Given the description of an element on the screen output the (x, y) to click on. 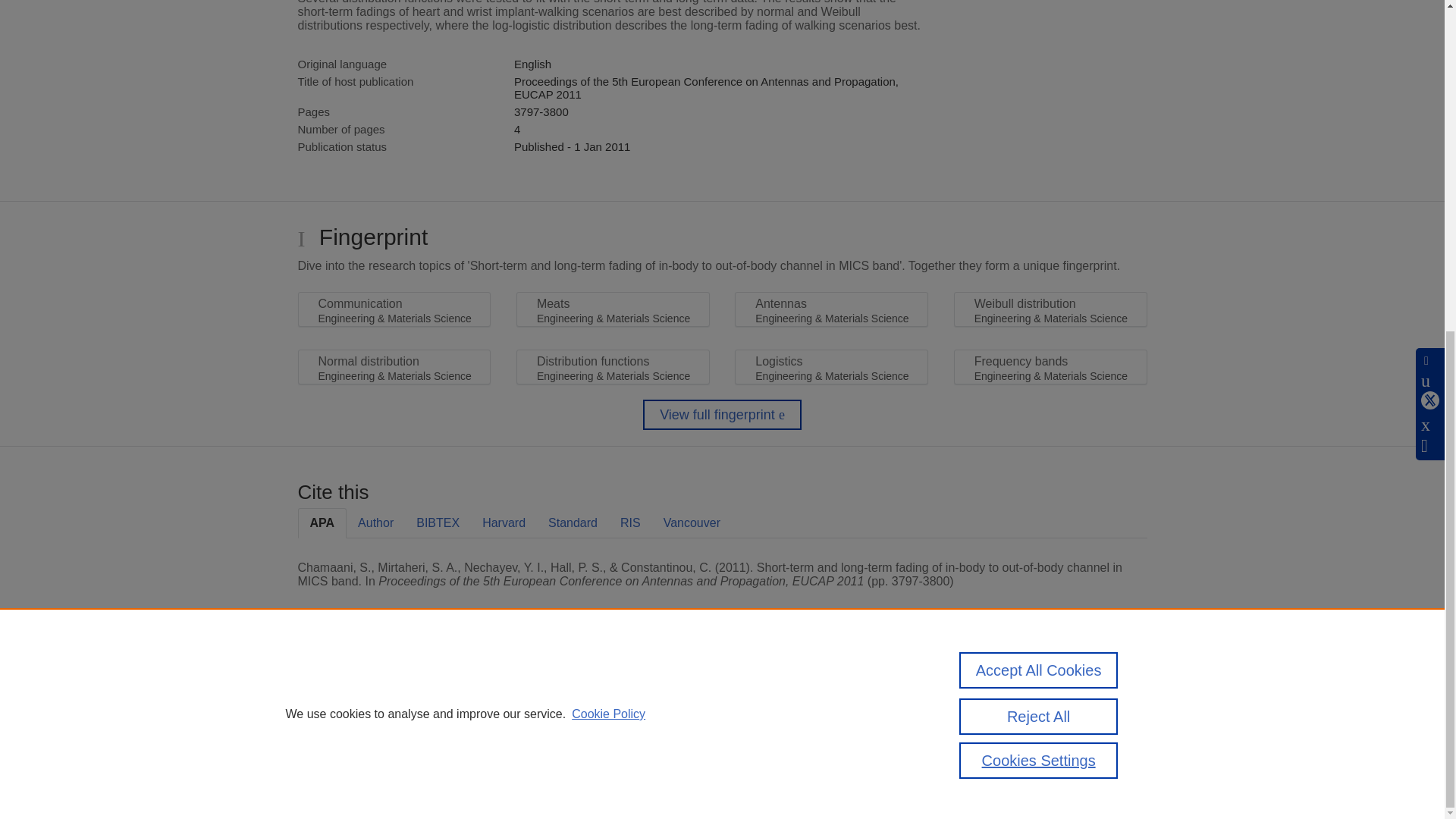
View full fingerprint (722, 414)
Pure (362, 686)
Elsevier B.V. (506, 707)
Scopus (394, 686)
Cookies Settings (334, 760)
use of cookies (796, 739)
